Given the description of an element on the screen output the (x, y) to click on. 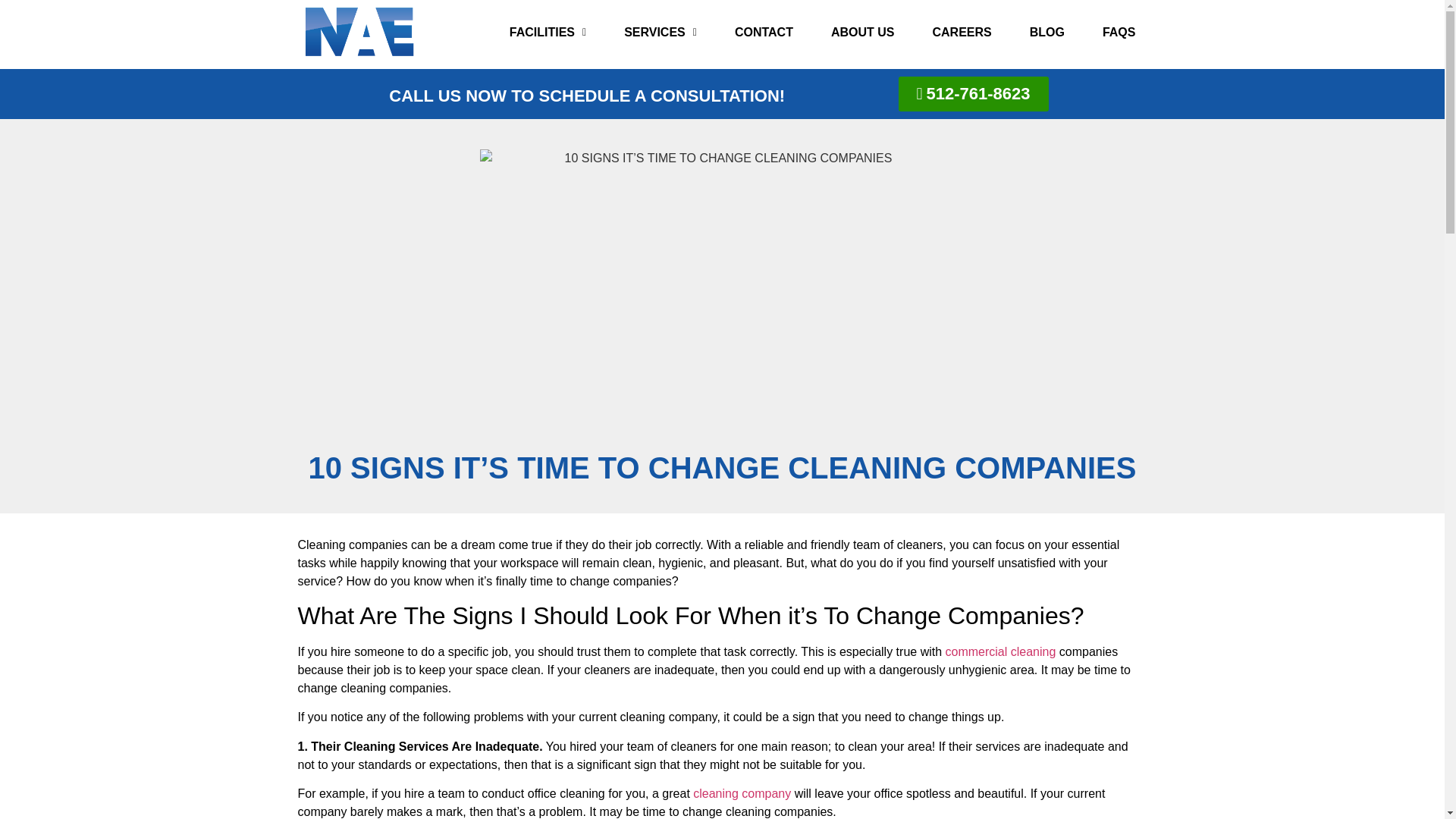
FACILITIES (546, 31)
SERVICES (659, 31)
CAREERS (961, 31)
commercial cleaning (1000, 651)
cleaning company (741, 793)
BLOG (1046, 31)
FAQS (1118, 31)
CONTACT (764, 31)
ABOUT US (862, 31)
512-761-8623 (973, 93)
